Given the description of an element on the screen output the (x, y) to click on. 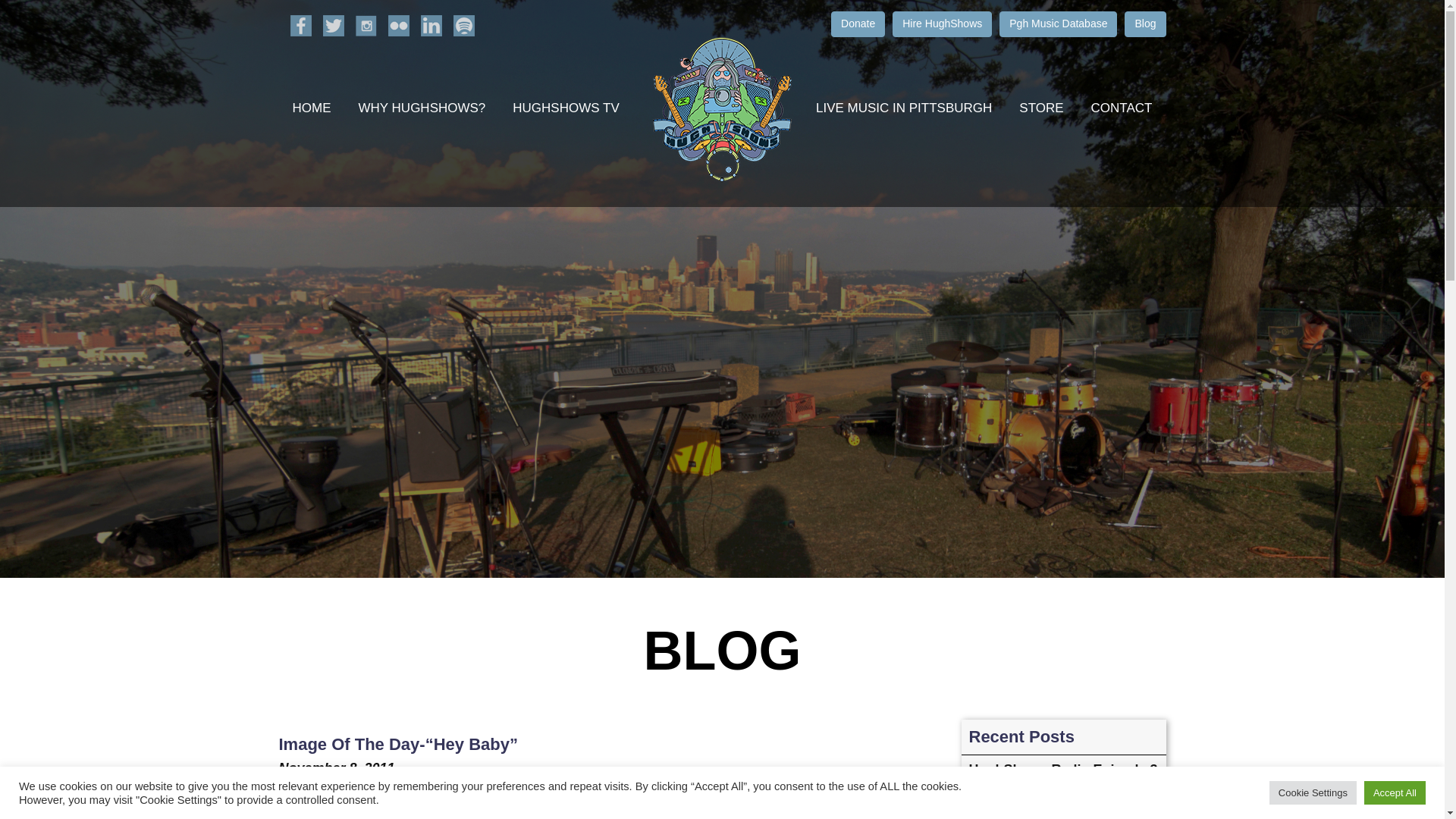
LIVE MUSIC IN PITTSBURGH (904, 108)
Hire HughShows (941, 23)
STORE (1041, 108)
Blog (1145, 23)
Hire HughShows (941, 23)
Follow Us on Twitter (333, 25)
Blog (1145, 23)
WHY HUGHSHOWS? (421, 108)
Follow Us on Flickr (398, 25)
Follow Us on Instagram (365, 25)
HOME (312, 108)
Follow Us on Facebook (300, 25)
Follow Us on LinkedIn (430, 25)
Donate (858, 23)
CONTACT (1121, 108)
